Given the description of an element on the screen output the (x, y) to click on. 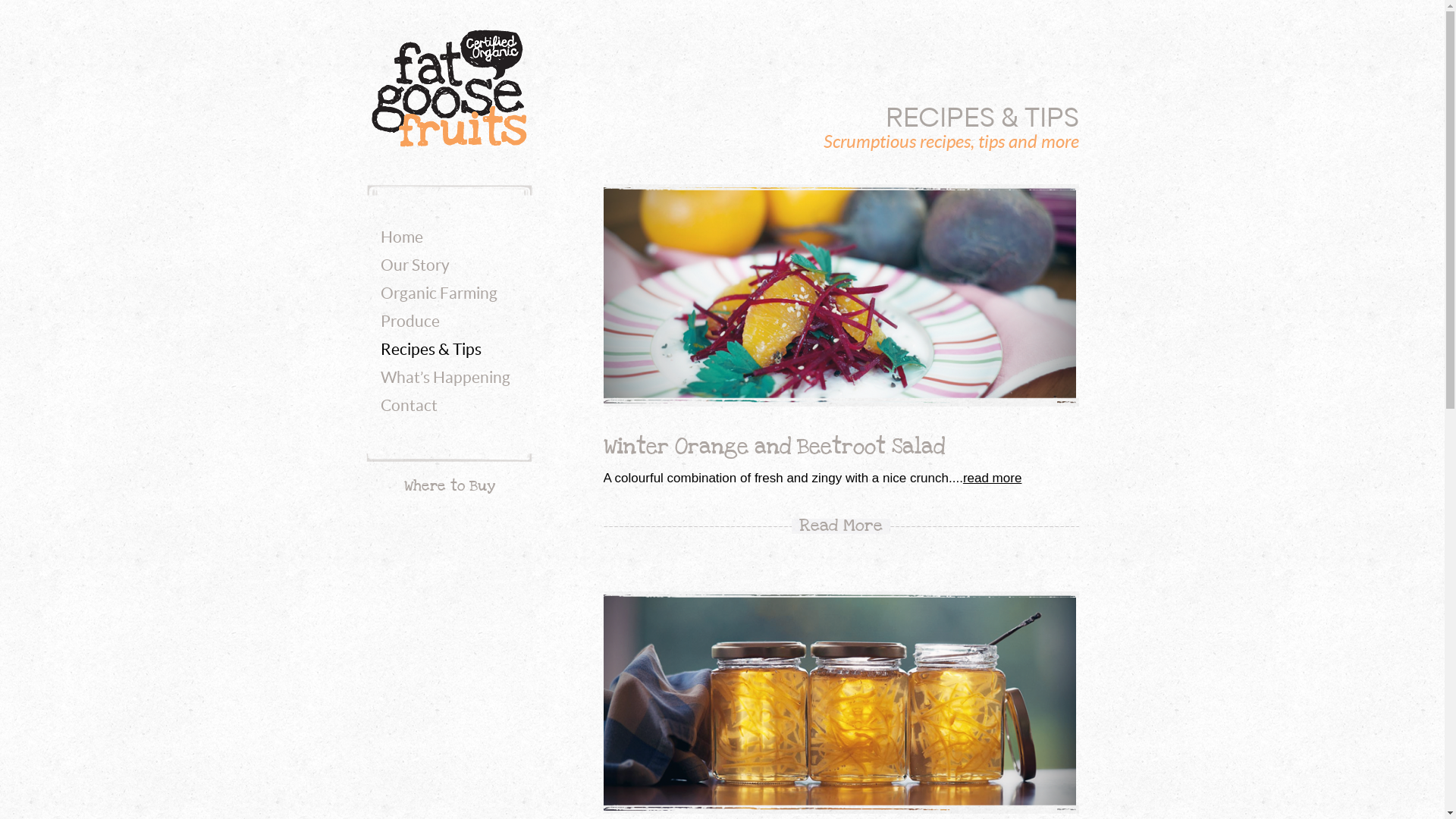
Fat Goose Fruits Element type: text (450, 87)
Recipes & Tips Element type: text (430, 349)
Our Story Element type: text (414, 265)
Contact Element type: text (408, 406)
read more Element type: text (992, 477)
Where to Buy Element type: text (448, 485)
Home Element type: text (401, 237)
Organic Farming Element type: text (438, 293)
Read More Element type: text (840, 525)
Produce Element type: text (409, 321)
Winter Orange and Beetroot Salad Element type: text (773, 446)
